Given the description of an element on the screen output the (x, y) to click on. 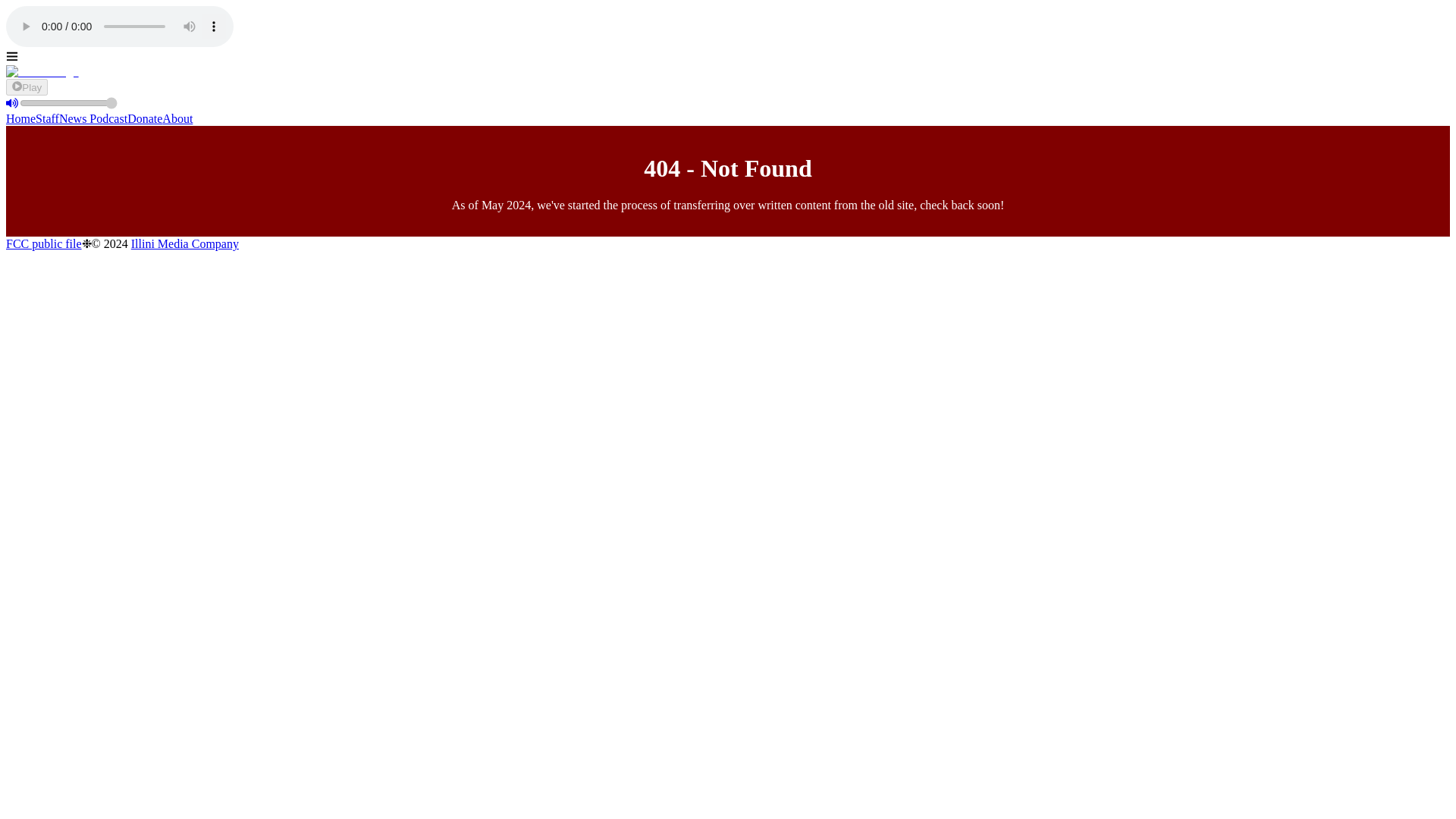
Play (26, 86)
1 (68, 102)
About (176, 118)
News Podcast (93, 118)
Donate (144, 118)
Home (19, 118)
Staff (46, 118)
